Given the description of an element on the screen output the (x, y) to click on. 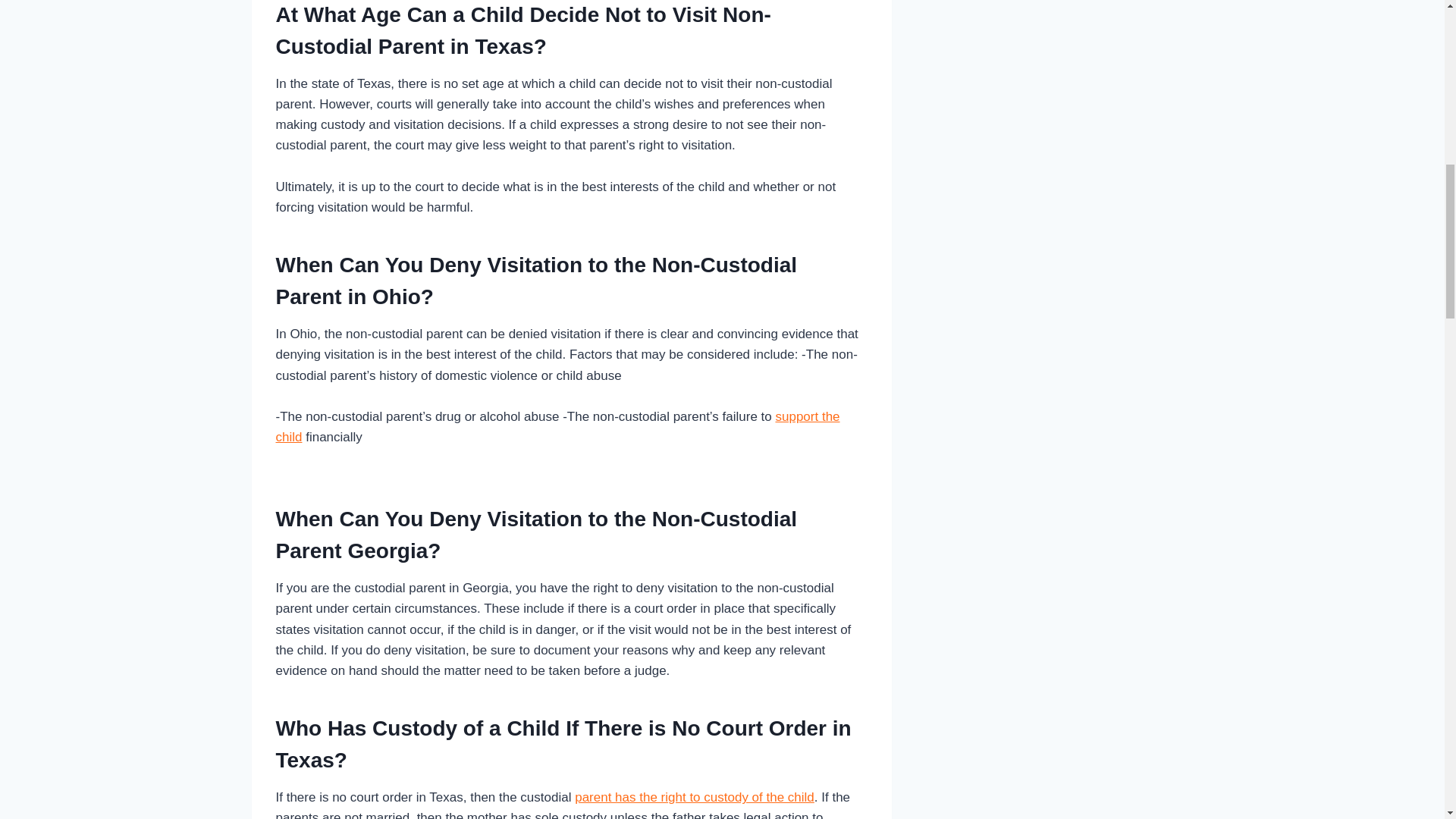
parent has the right to custody of the child (694, 797)
support the child (558, 426)
